Given the description of an element on the screen output the (x, y) to click on. 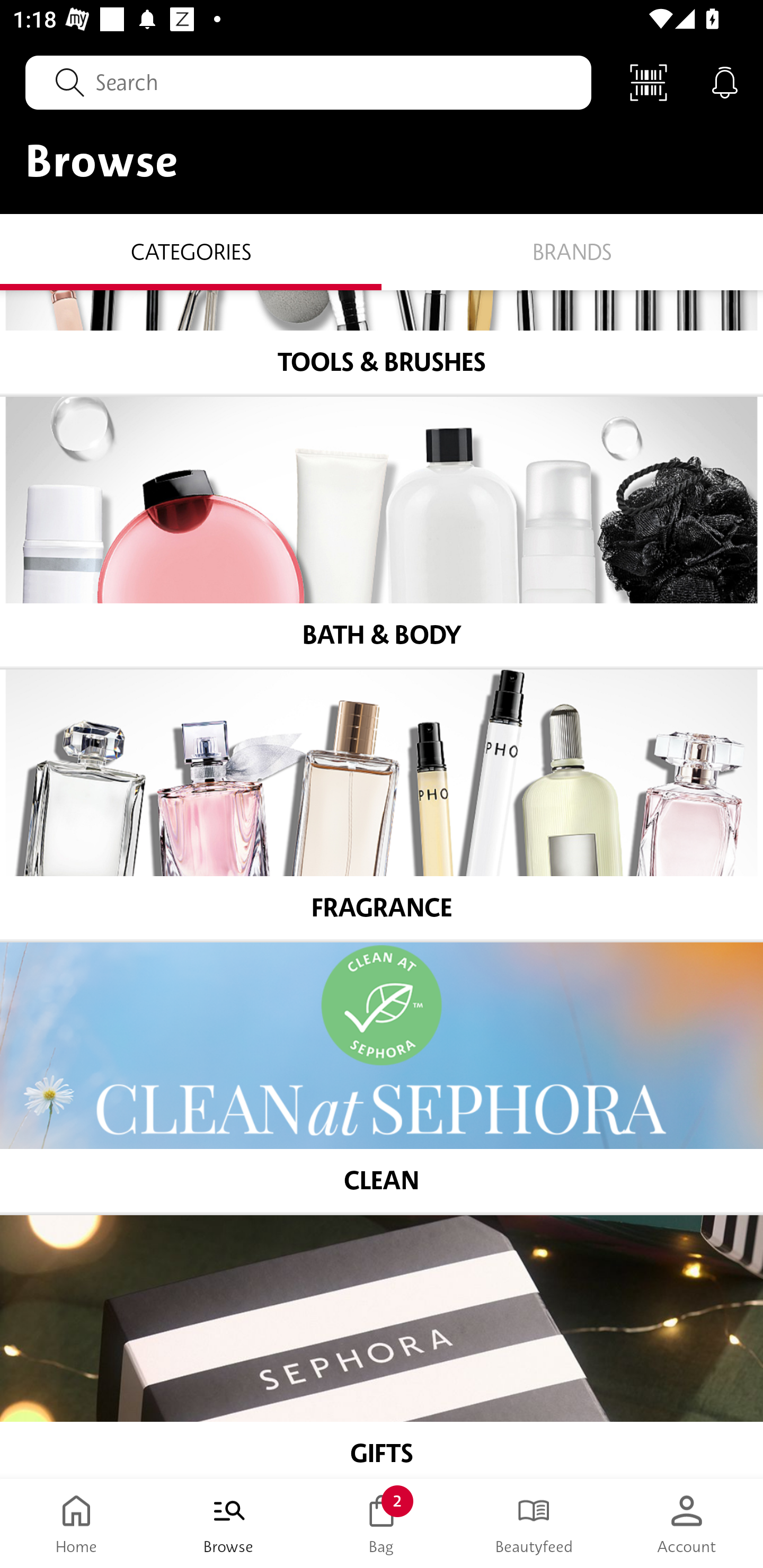
Scan Code (648, 81)
Notifications (724, 81)
Search (308, 81)
Brands BRANDS (572, 251)
BATH & BODY (381, 531)
FRAGRANCE (381, 804)
CLEAN (381, 1077)
GIFTS (381, 1346)
Home (76, 1523)
Bag 2 Bag (381, 1523)
Beautyfeed (533, 1523)
Account (686, 1523)
